Given the description of an element on the screen output the (x, y) to click on. 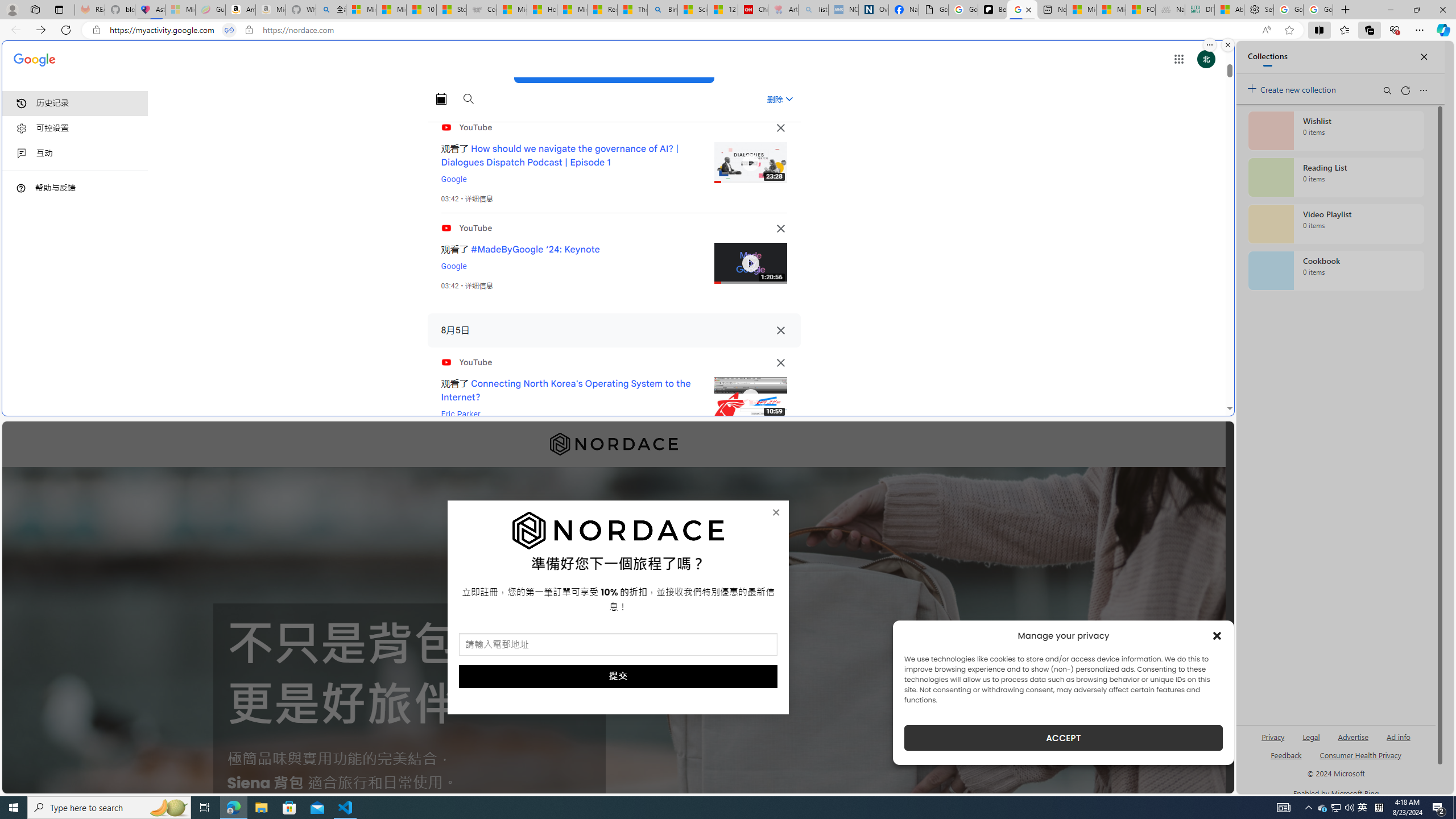
Connecting North Korea's Operating System to the Internet? (566, 390)
Tabs in split screen (228, 29)
